Given the description of an element on the screen output the (x, y) to click on. 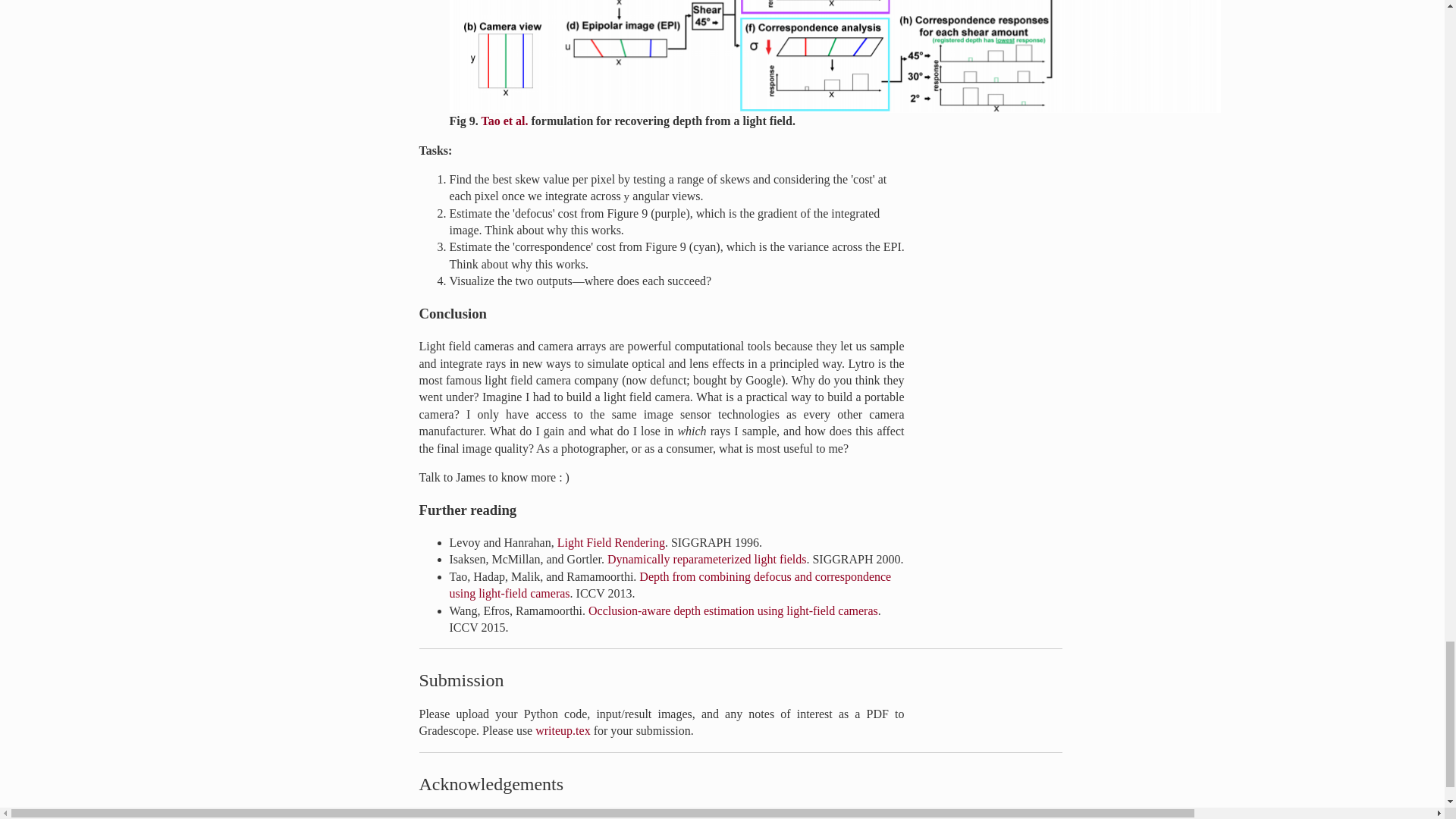
writeup.tex (562, 730)
Light Field Rendering (611, 542)
Dynamically reparameterized light fields (706, 558)
Occlusion-aware depth estimation using light-field cameras (732, 610)
Tao et al. (503, 120)
